Given the description of an element on the screen output the (x, y) to click on. 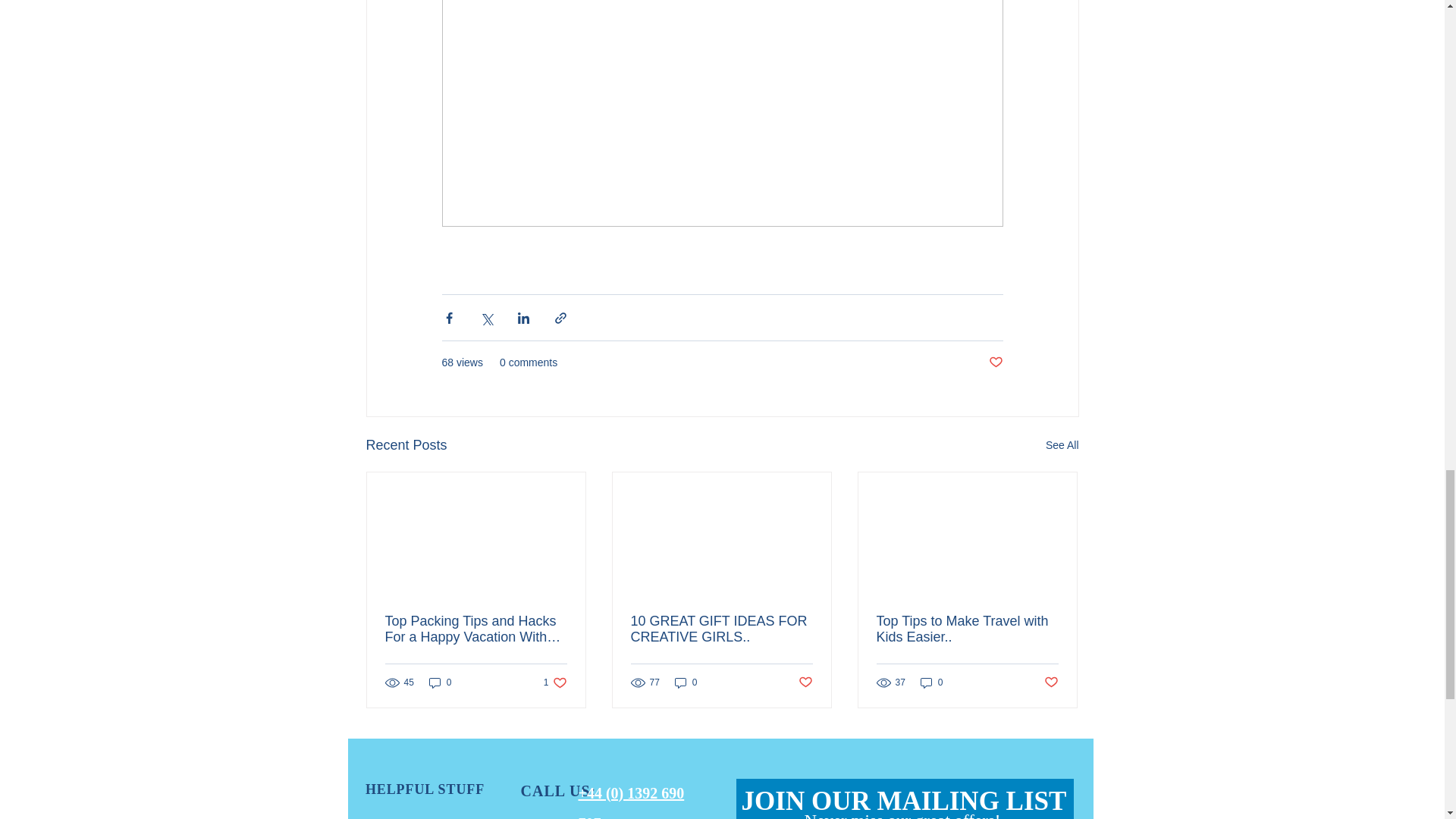
Post not marked as liked (995, 362)
Top Packing Tips and Hacks For a Happy Vacation With Kids! (476, 629)
0 (555, 681)
See All (440, 681)
